Given the description of an element on the screen output the (x, y) to click on. 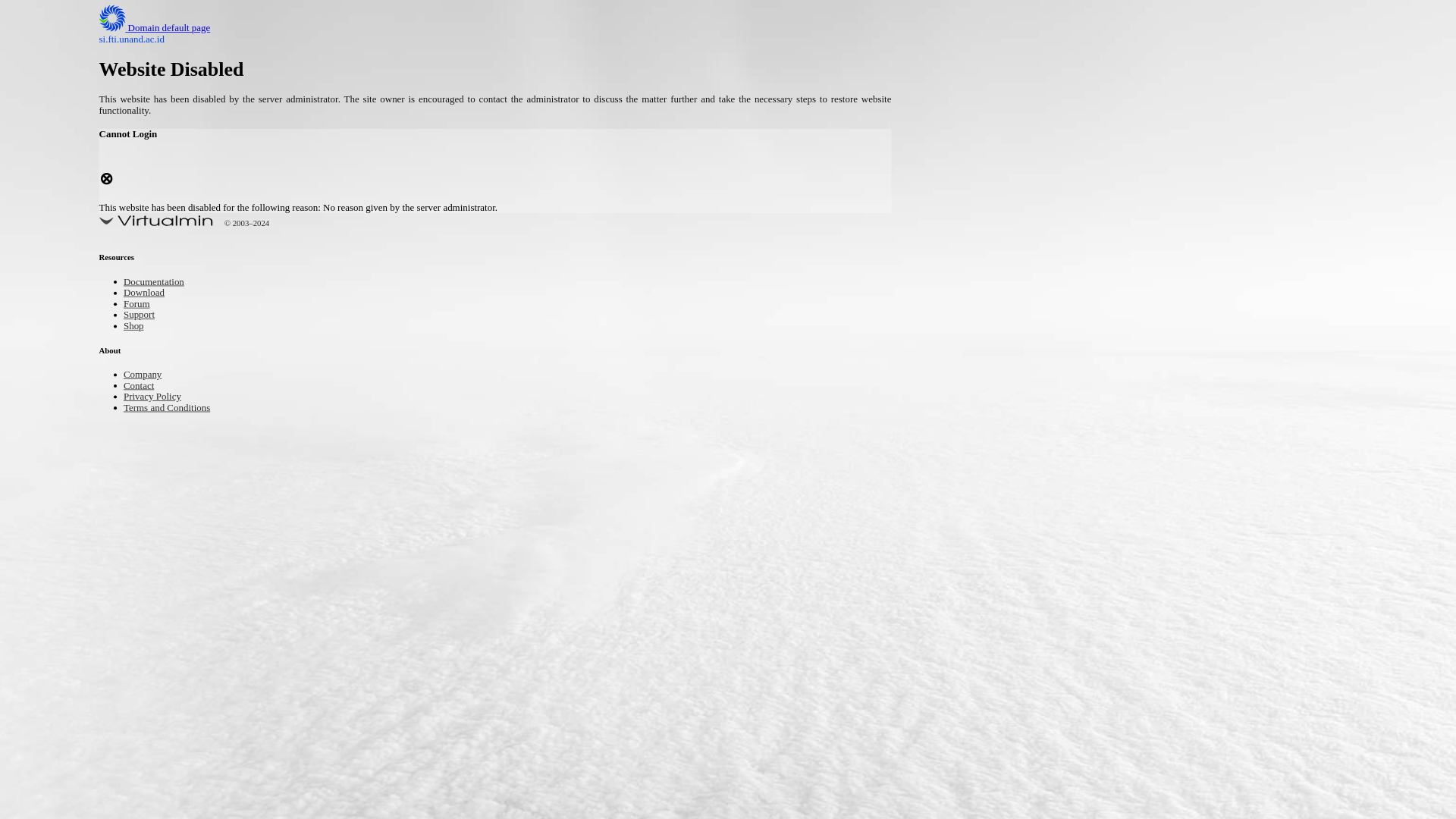
Download (148, 293)
Support (142, 315)
Shop (135, 327)
Contact (142, 386)
Domain default page (167, 29)
Forum (139, 305)
Privacy Policy (159, 397)
Company (146, 374)
Documentation (160, 282)
Terms and Conditions (176, 408)
